Given the description of an element on the screen output the (x, y) to click on. 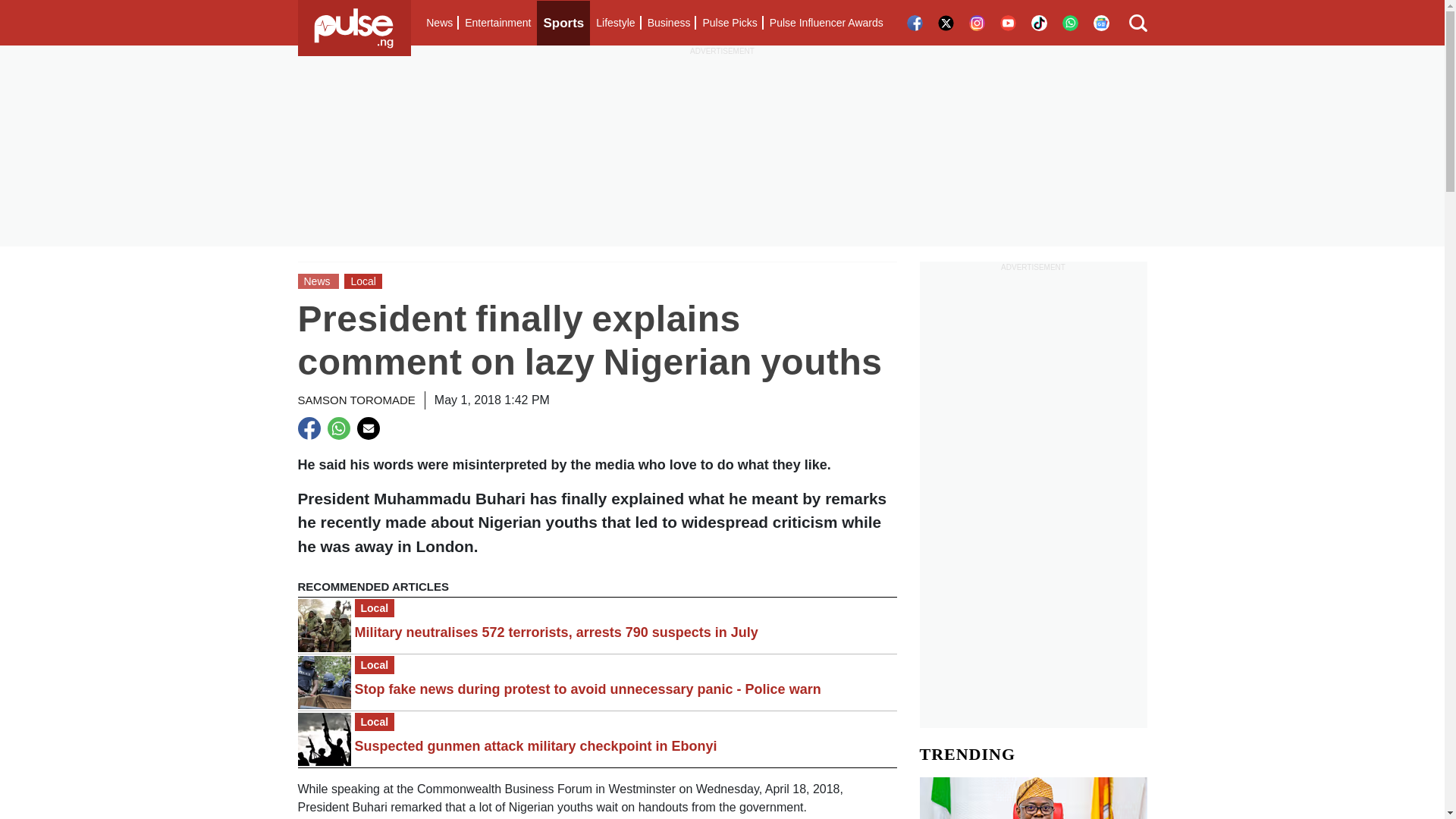
Business (669, 22)
Sports (563, 22)
Entertainment (497, 22)
Lifestyle (614, 22)
